Given the description of an element on the screen output the (x, y) to click on. 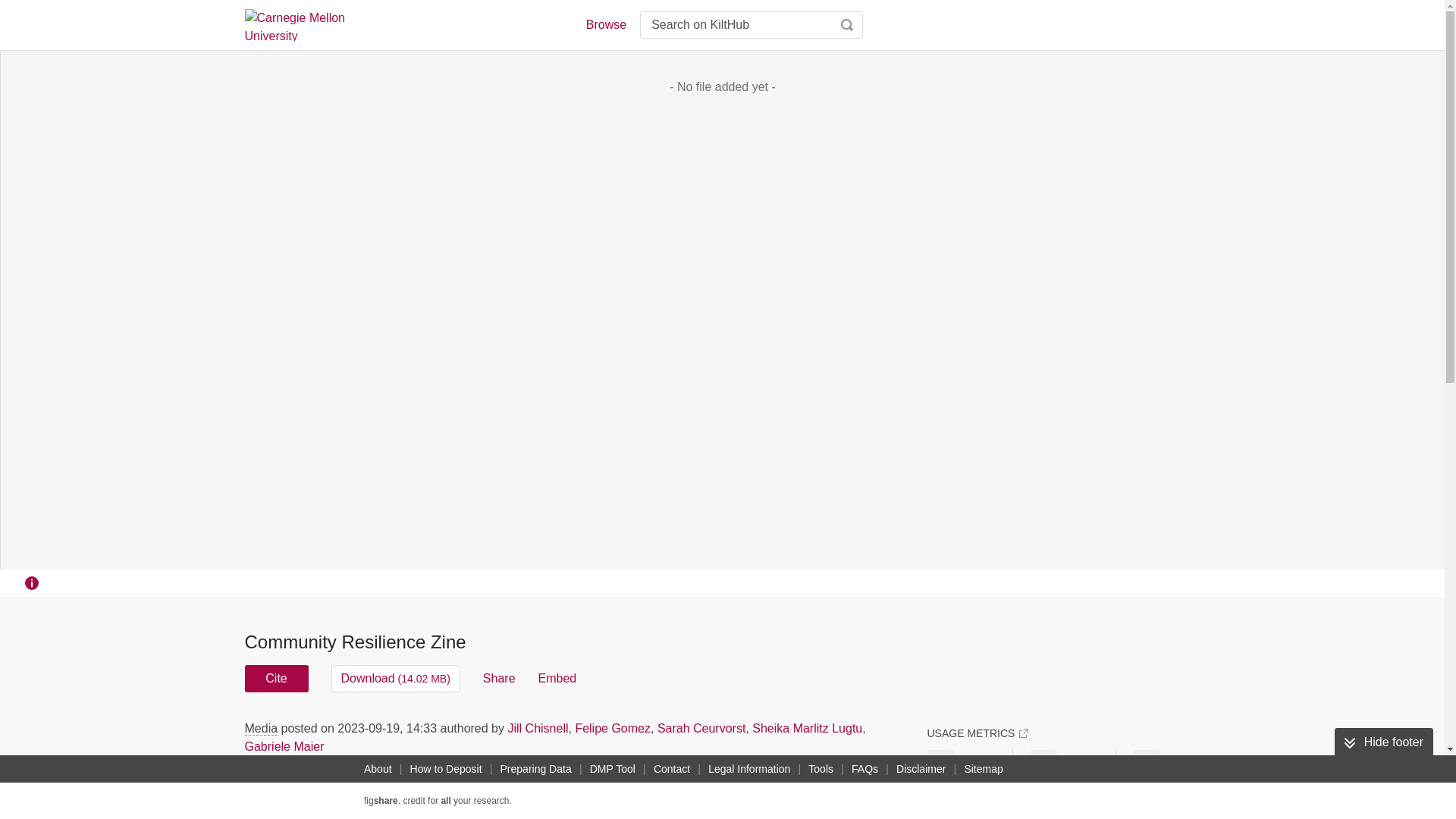
Felipe Gomez (612, 727)
Embed (557, 678)
Sarah Ceurvorst (701, 727)
How to Deposit (446, 769)
Hide footer (1383, 742)
Share (499, 678)
Browse (605, 24)
Gabriele Maier (283, 746)
Sheika Marlitz Lugtu (806, 727)
Jill Chisnell (536, 727)
